Given the description of an element on the screen output the (x, y) to click on. 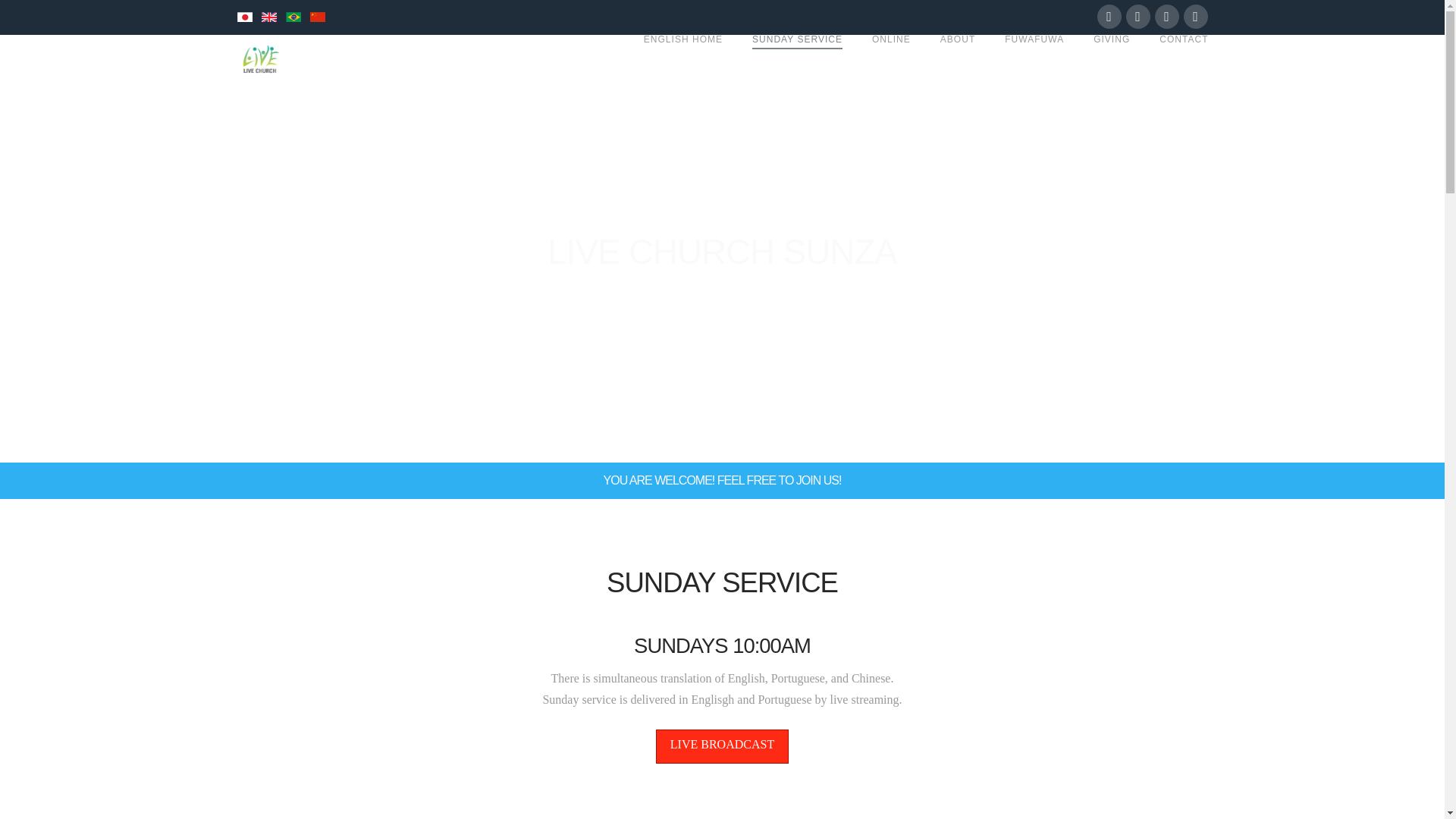
ENGLISH HOME (682, 57)
SUNDAY SERVICE (796, 57)
YouTube (1165, 16)
ONLINE (890, 57)
FUWAFUWA (1034, 57)
GIVING (1111, 57)
Facebook (1108, 16)
LIVE BROADCAST (722, 746)
ABOUT (957, 57)
CONTACT (1175, 57)
Instagram (1194, 16)
